Given the description of an element on the screen output the (x, y) to click on. 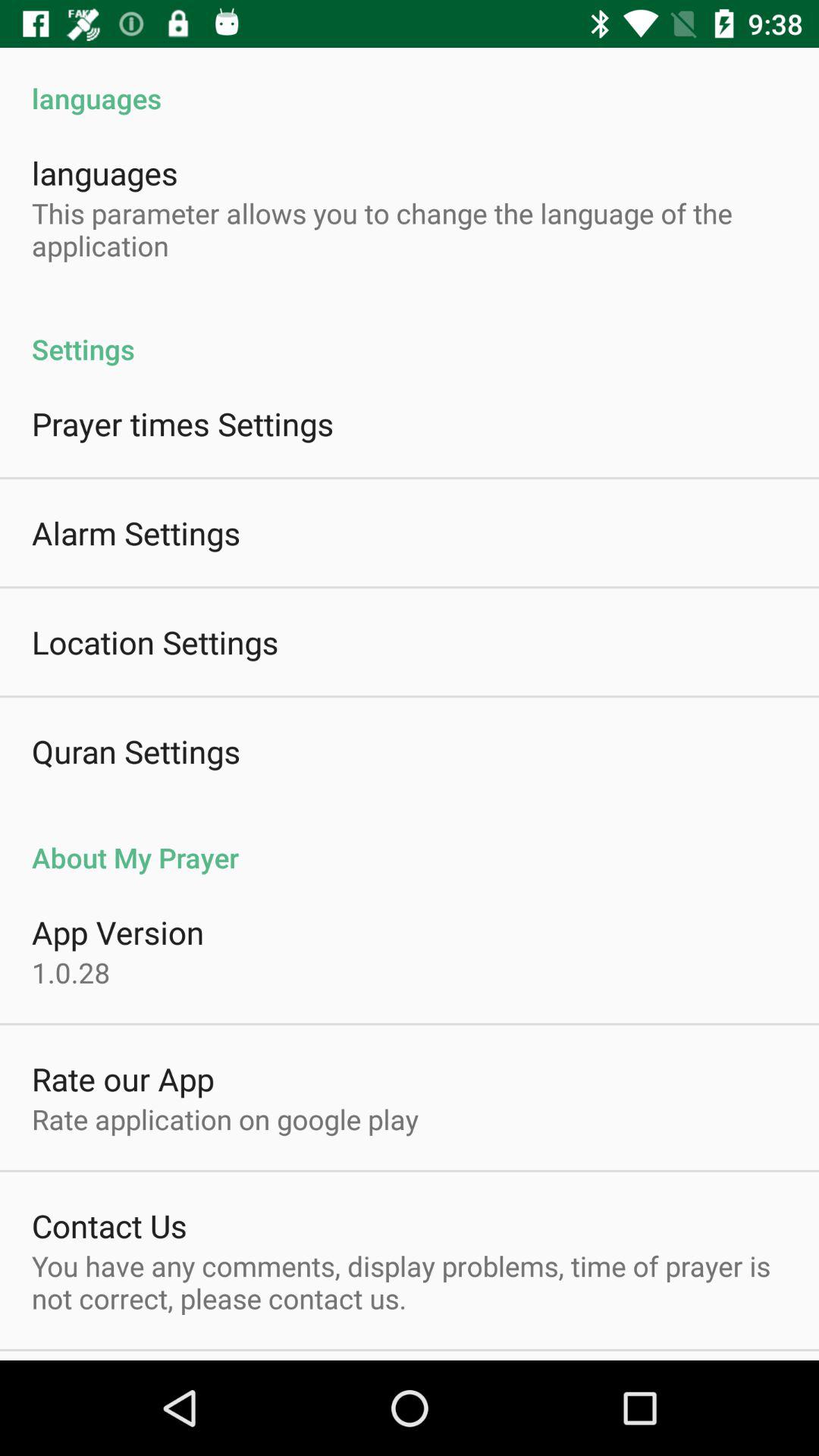
scroll to the about my prayer (409, 841)
